Given the description of an element on the screen output the (x, y) to click on. 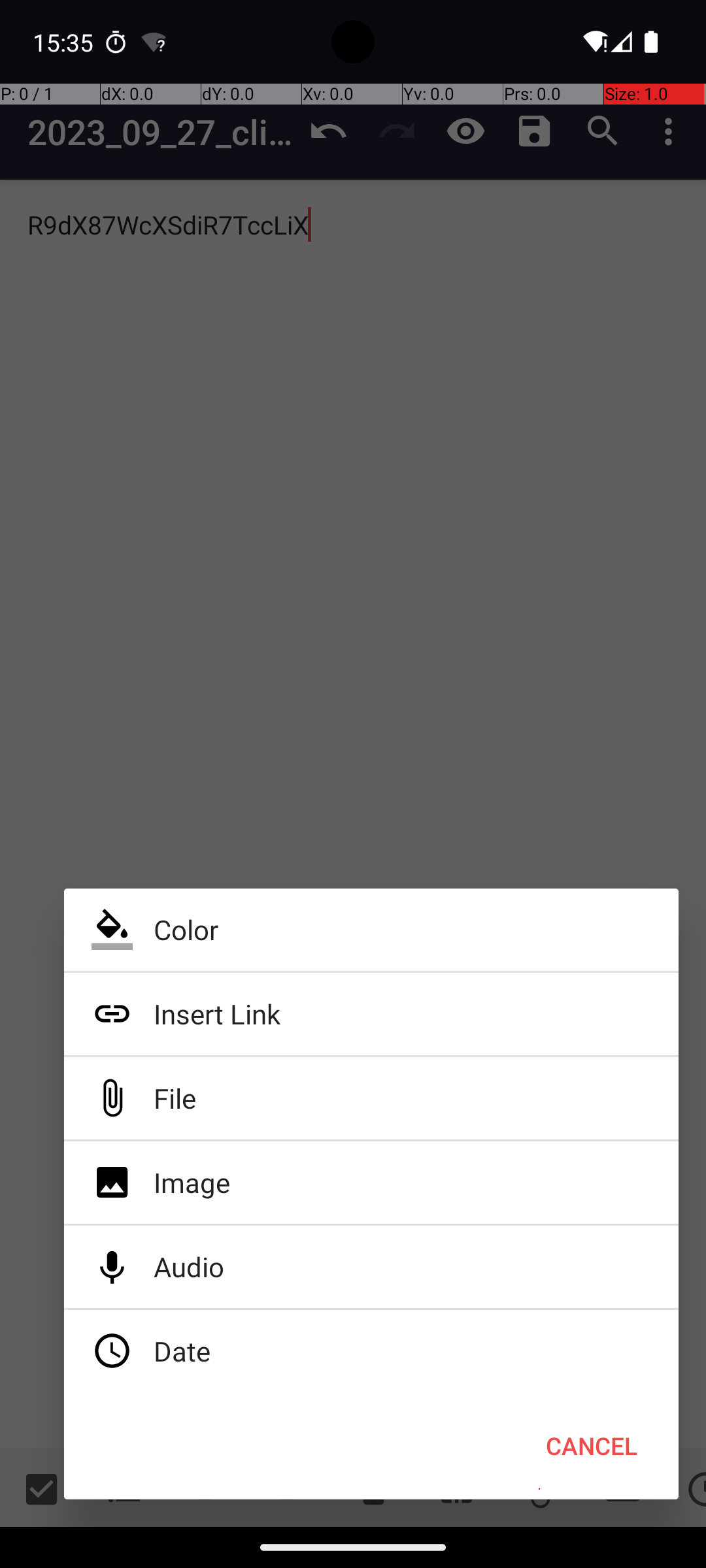
Color Element type: android.widget.TextView (371, 929)
Insert Link Element type: android.widget.TextView (371, 1013)
File Element type: android.widget.TextView (371, 1098)
Image Element type: android.widget.TextView (371, 1182)
Android System notification: AndroidWifi has limited connectivity Element type: android.widget.ImageView (153, 41)
Wifi signal full.,No internet Element type: android.widget.FrameLayout (593, 41)
